Given the description of an element on the screen output the (x, y) to click on. 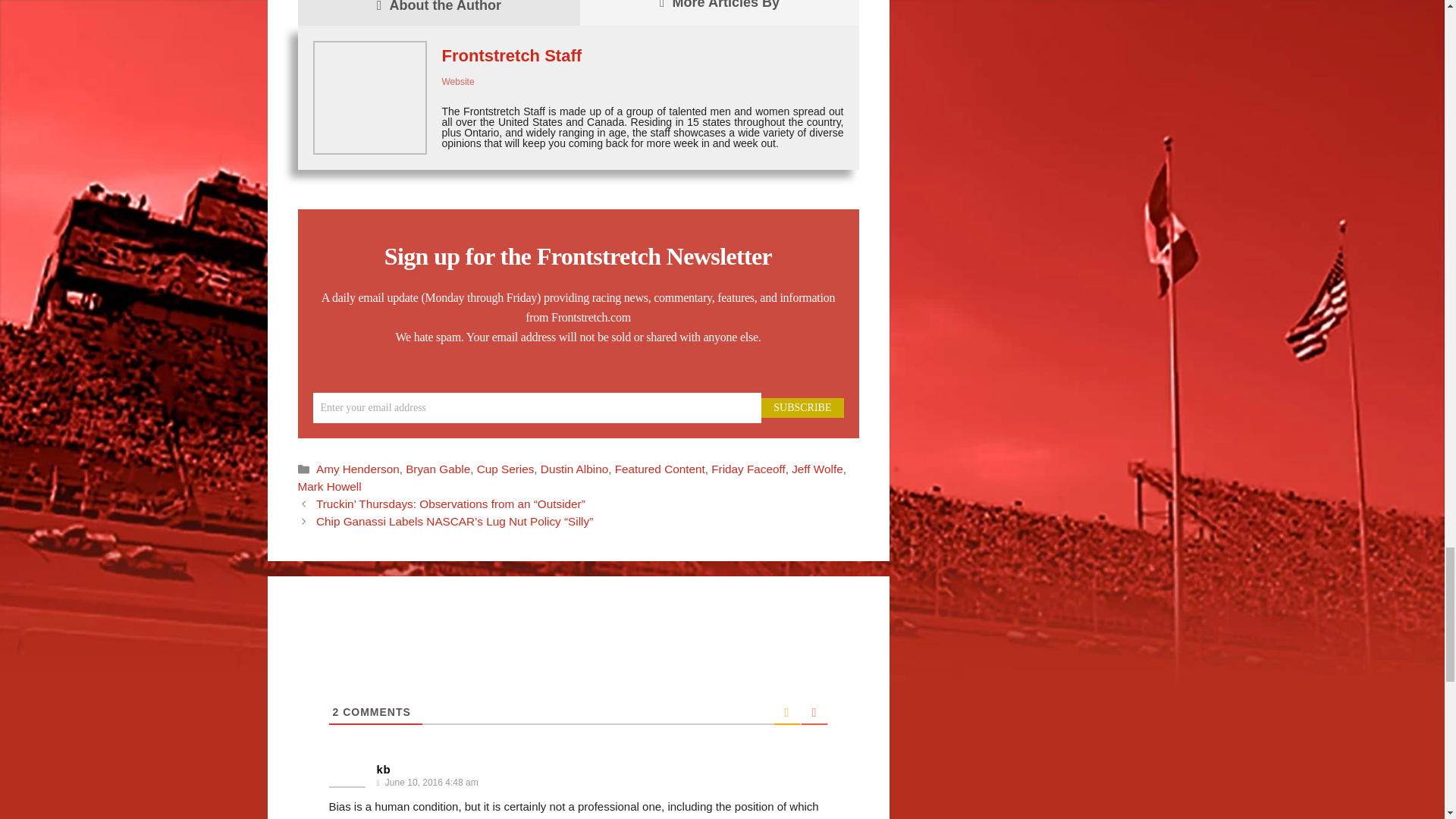
Mark Howell (329, 486)
Bryan Gable (438, 468)
Dustin Albino (574, 468)
Featured Content (659, 468)
SUBSCRIBE (802, 407)
Jeff Wolfe (817, 468)
Friday Faceoff (748, 468)
Cup Series (505, 468)
Frontstretch Staff (510, 55)
June 10, 2016 4:48 am (429, 782)
